Given the description of an element on the screen output the (x, y) to click on. 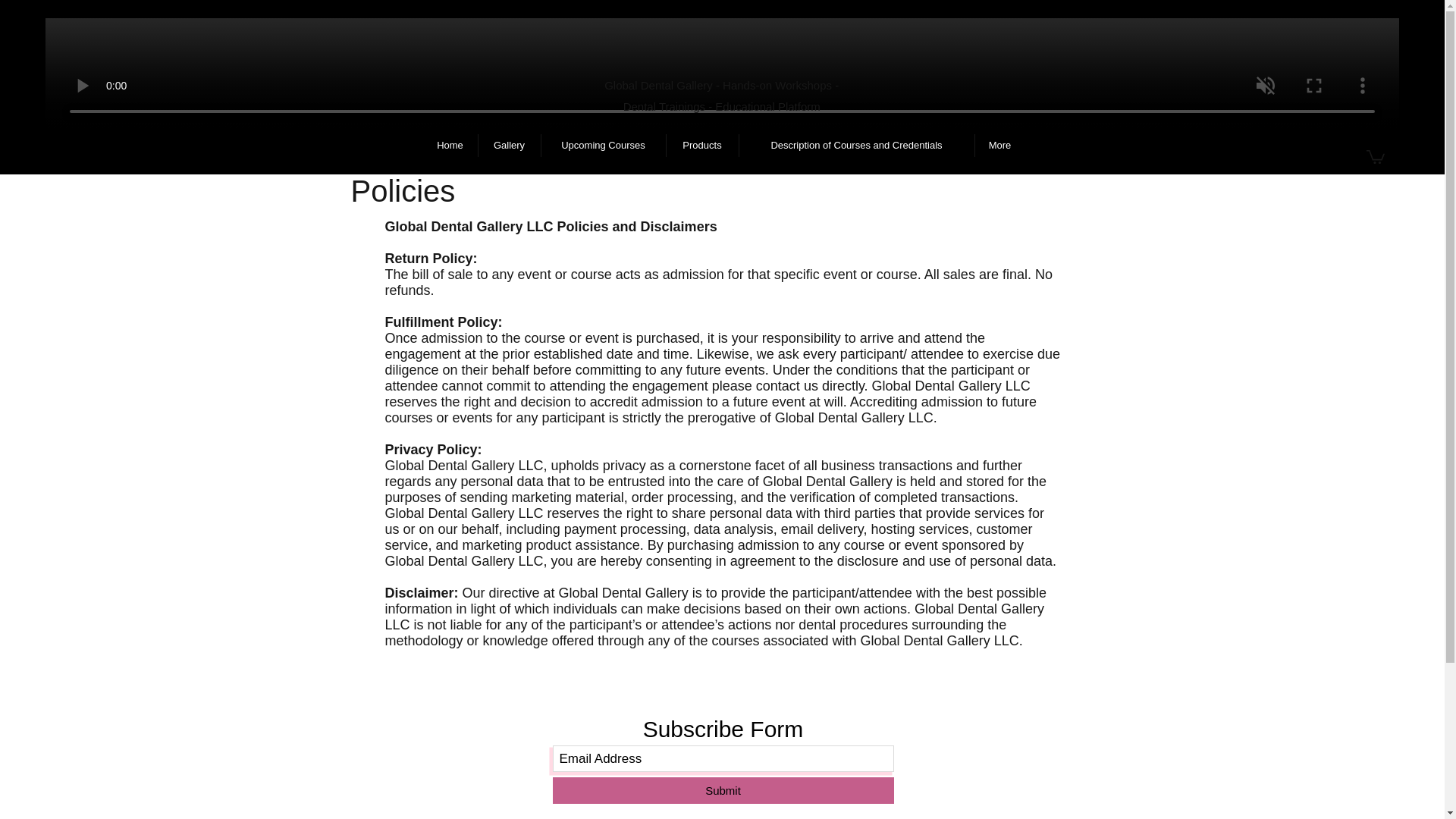
Home (450, 145)
Products (701, 145)
Description of Courses and Credentials (856, 145)
Gallery (508, 145)
Upcoming Courses (603, 145)
Submit (722, 790)
